Given the description of an element on the screen output the (x, y) to click on. 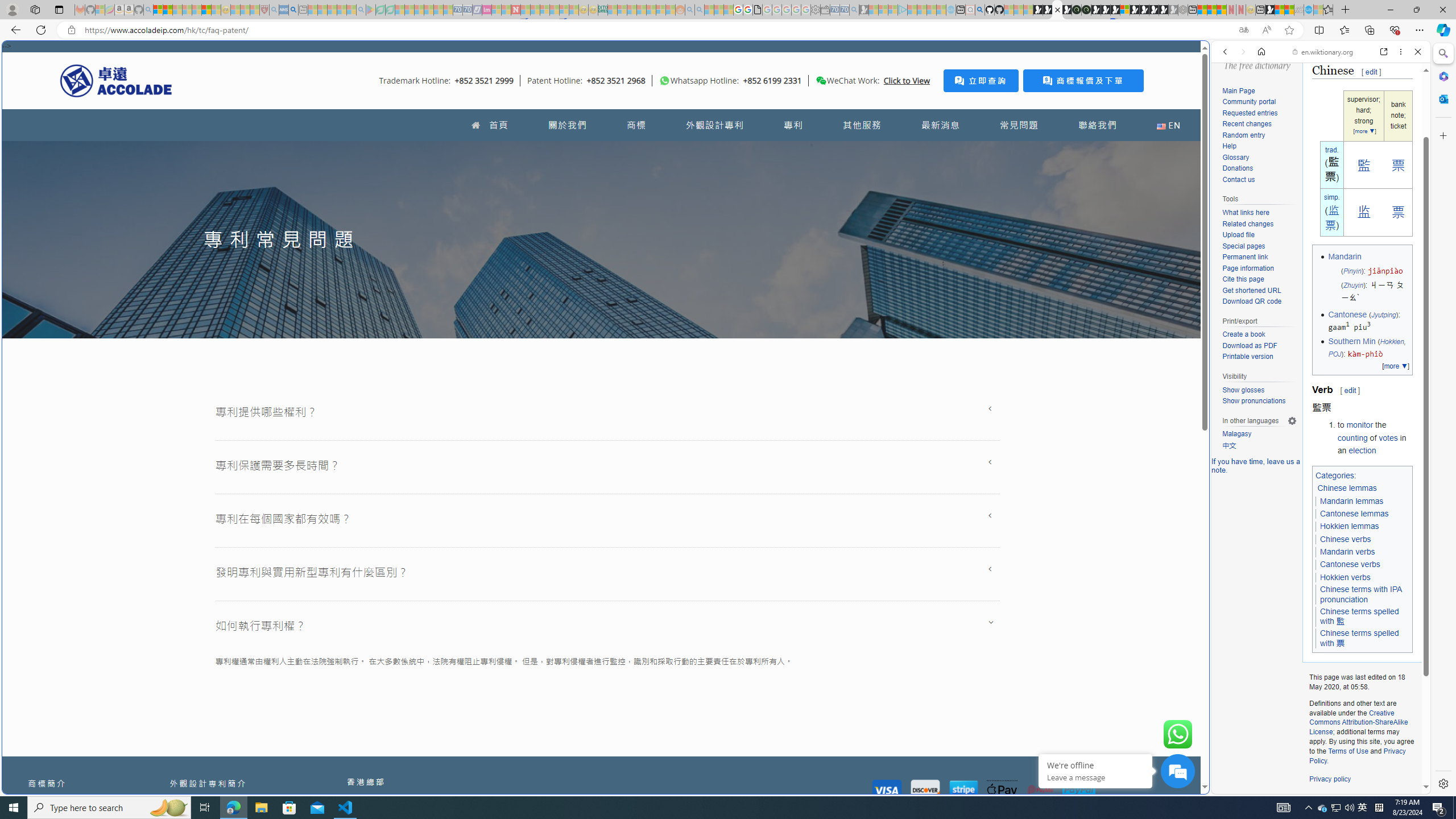
Page information (1259, 268)
utah sues federal government - Search (292, 9)
election (1361, 450)
Expert Portfolios - Sleeping (640, 9)
World - MSN (727, 389)
14 Common Myths Debunked By Scientific Facts - Sleeping (534, 9)
Earth has six continents not seven, radical new study claims (1288, 9)
Get shortened URL (1251, 289)
